Given the description of an element on the screen output the (x, y) to click on. 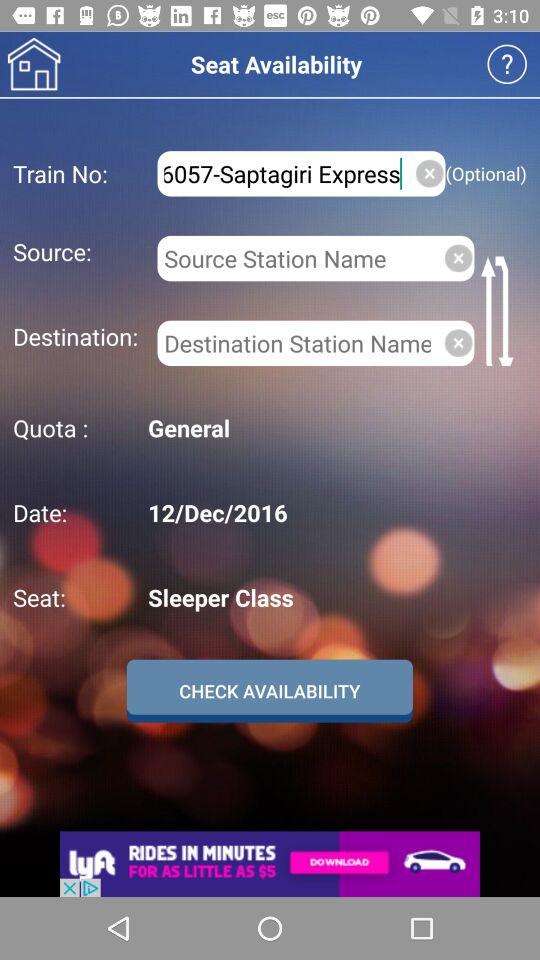
click icon below the (optional) icon (500, 310)
